Given the description of an element on the screen output the (x, y) to click on. 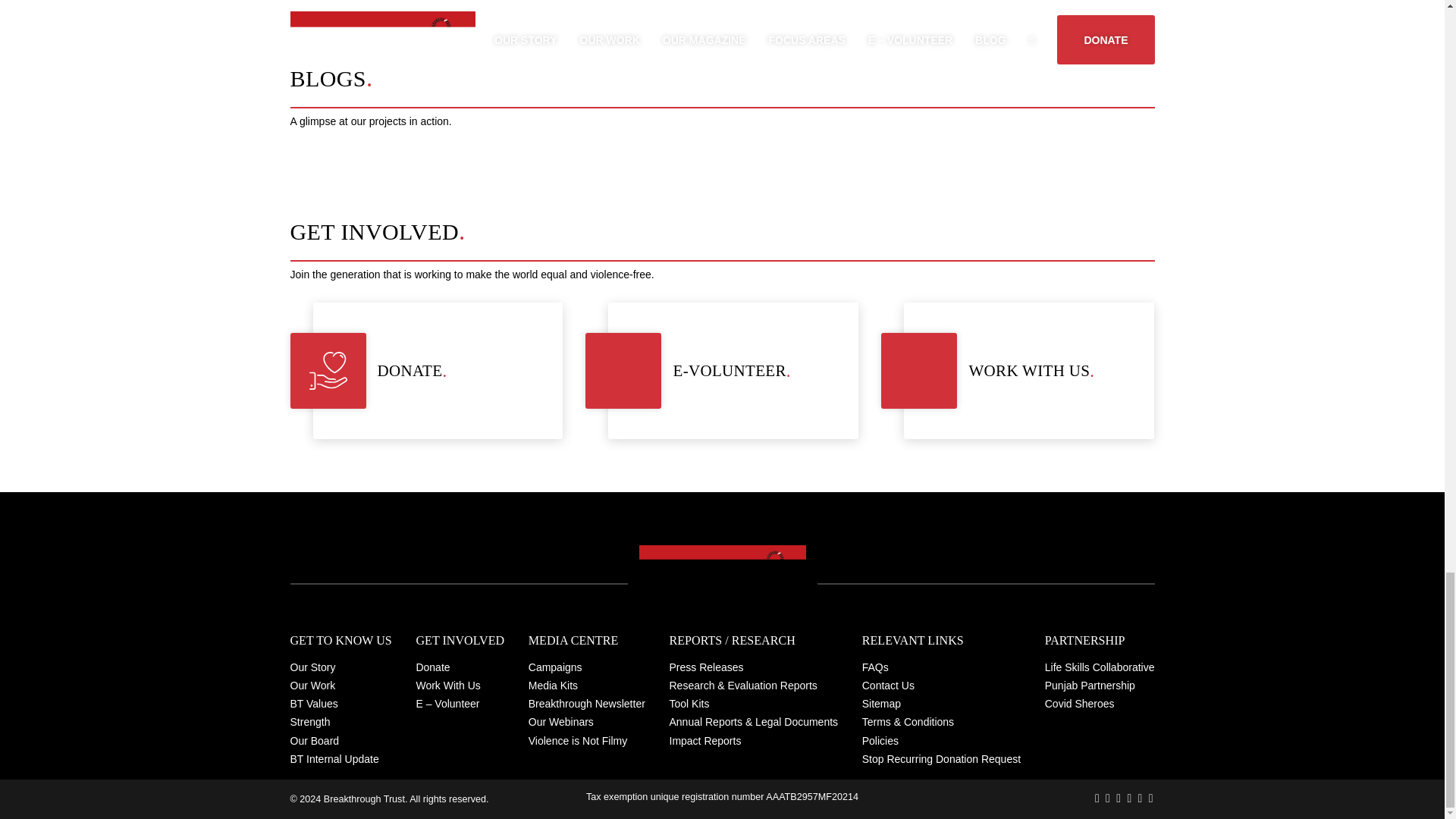
BT Internal Update (340, 759)
Our Story (340, 667)
Our Work (1017, 370)
GET TO KNOW US (340, 685)
BT Values (340, 640)
Strength (340, 703)
Our Board (722, 370)
